Given the description of an element on the screen output the (x, y) to click on. 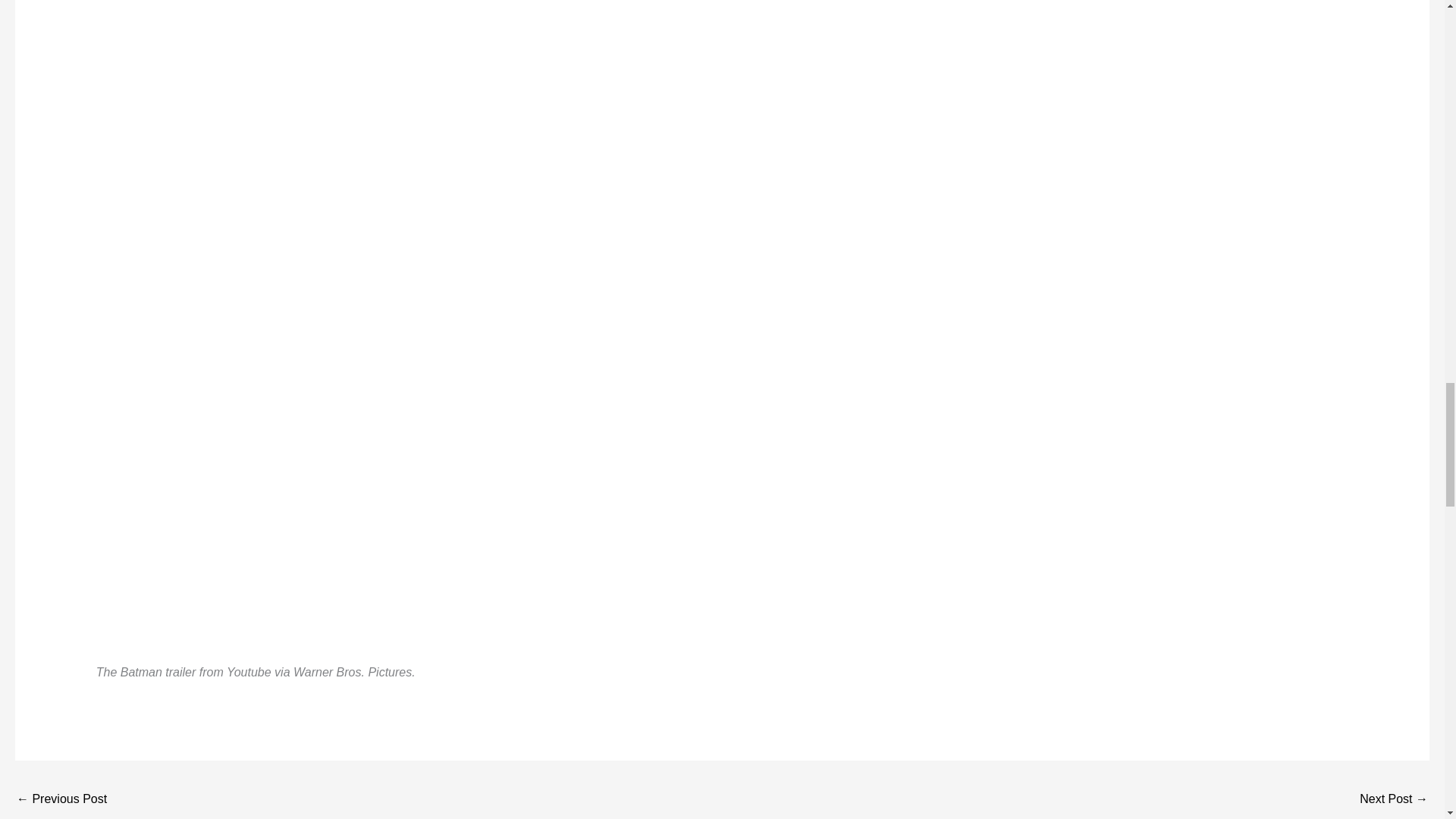
In Search Of Tomorrow Review (61, 800)
Asking For It Review (1393, 800)
